Given the description of an element on the screen output the (x, y) to click on. 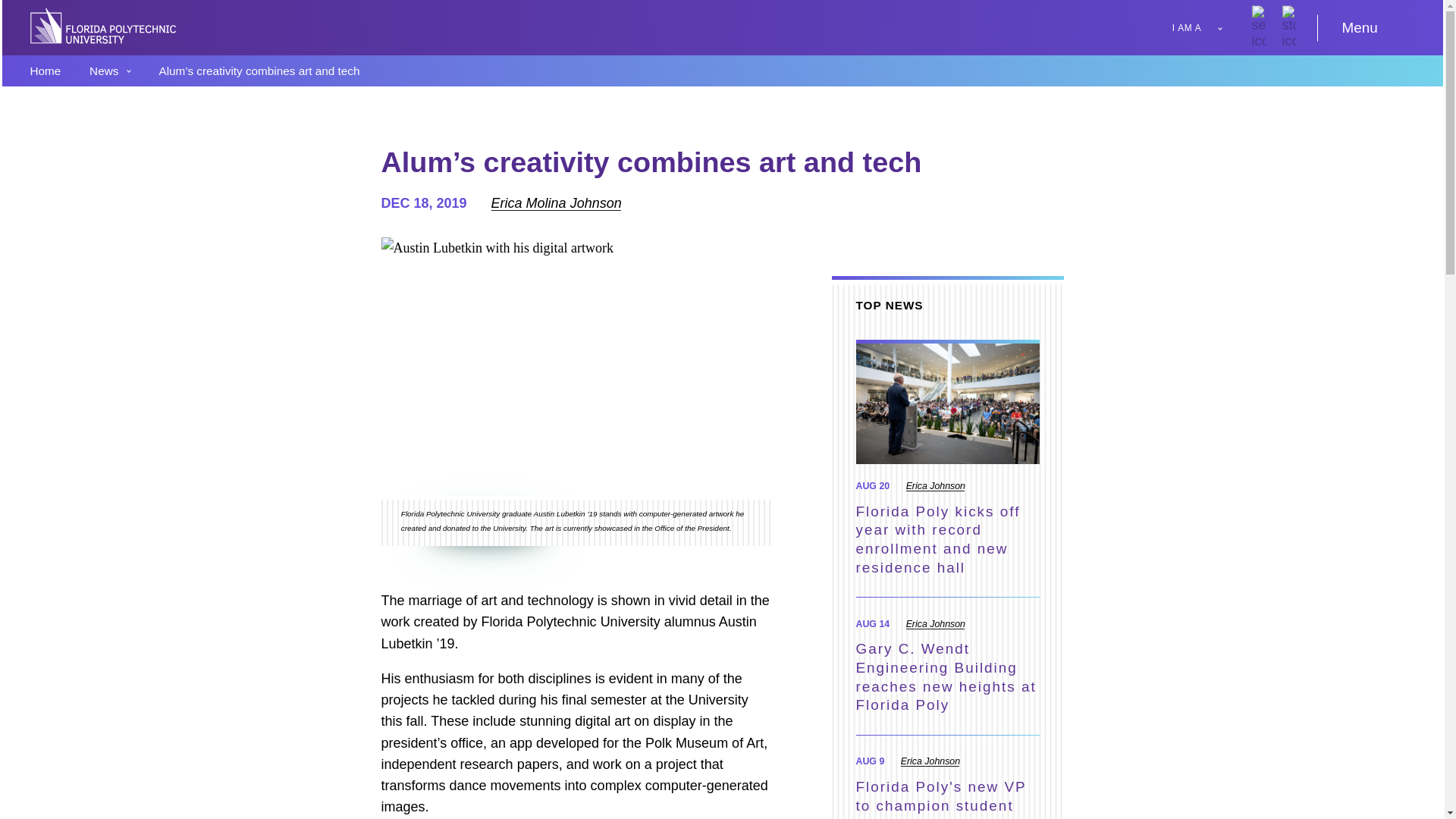
Menu (1378, 27)
Search (1204, 27)
I AM A (1200, 27)
Store Search (1234, 27)
